Given the description of an element on the screen output the (x, y) to click on. 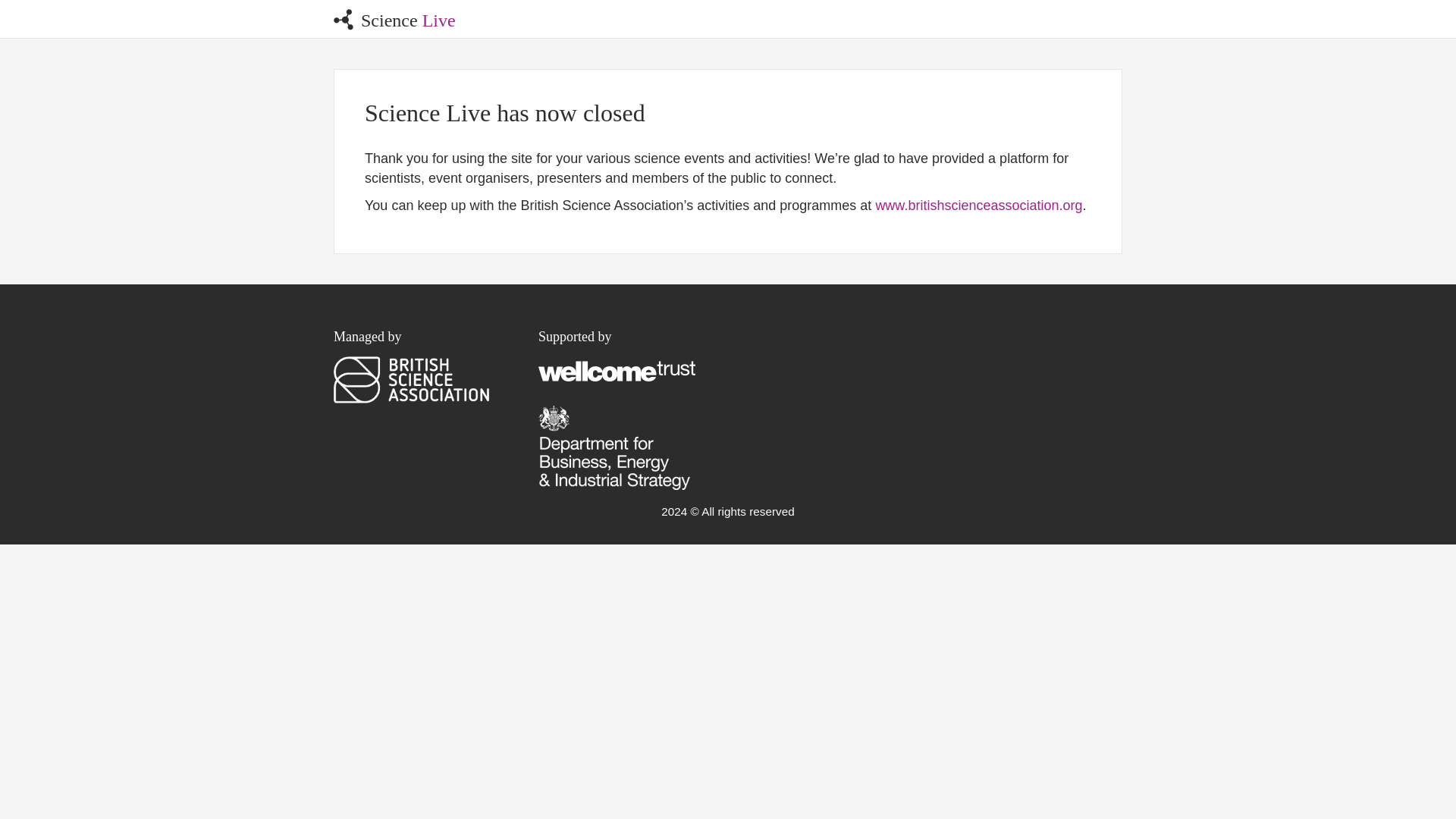
Science Live (394, 18)
Welcome Trust (616, 369)
www.britishscienceassociation.org (978, 205)
British Science Association (411, 378)
